Given the description of an element on the screen output the (x, y) to click on. 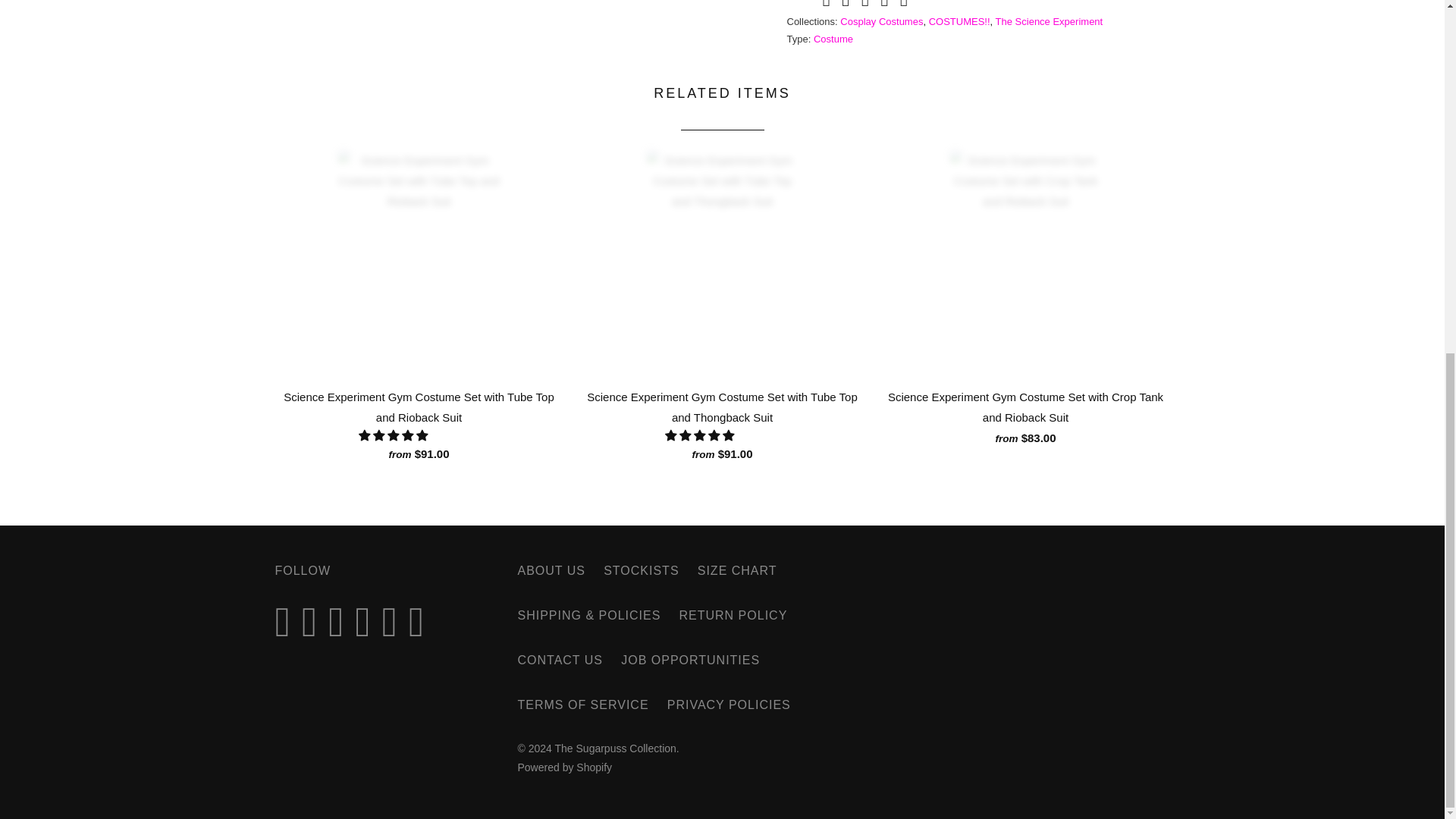
Email this to a friend (902, 5)
Costume (833, 39)
Share this on Twitter (823, 5)
Cosplay Costumes (881, 21)
COSTUMES!! (959, 21)
Share this on Pinterest (863, 5)
The Science Experiment (1049, 21)
Share this on Facebook (844, 5)
